Given the description of an element on the screen output the (x, y) to click on. 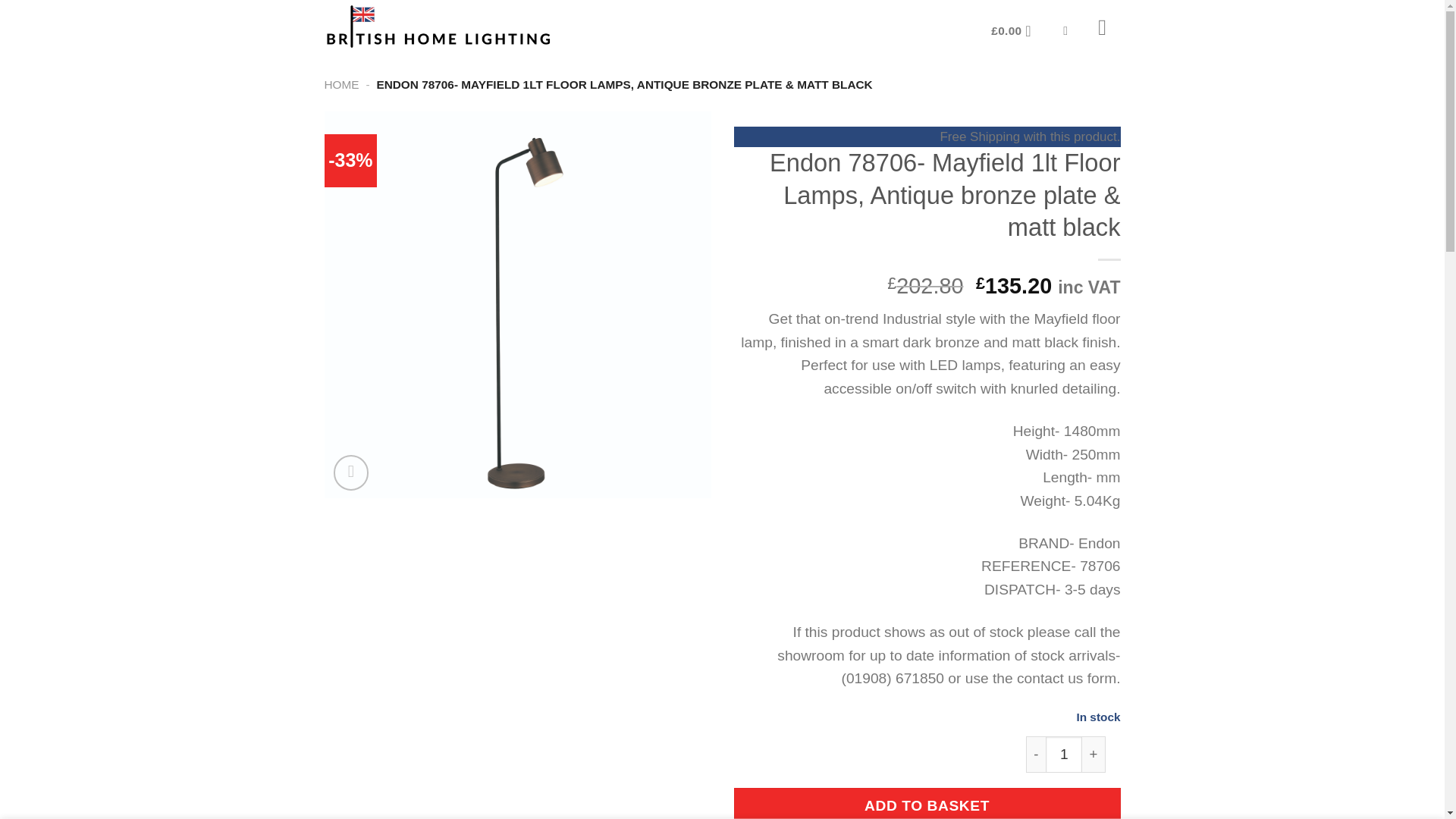
Zoom (351, 472)
Basket (1016, 31)
HOME (341, 83)
ADD TO BASKET (927, 803)
1 (1063, 754)
